Given the description of an element on the screen output the (x, y) to click on. 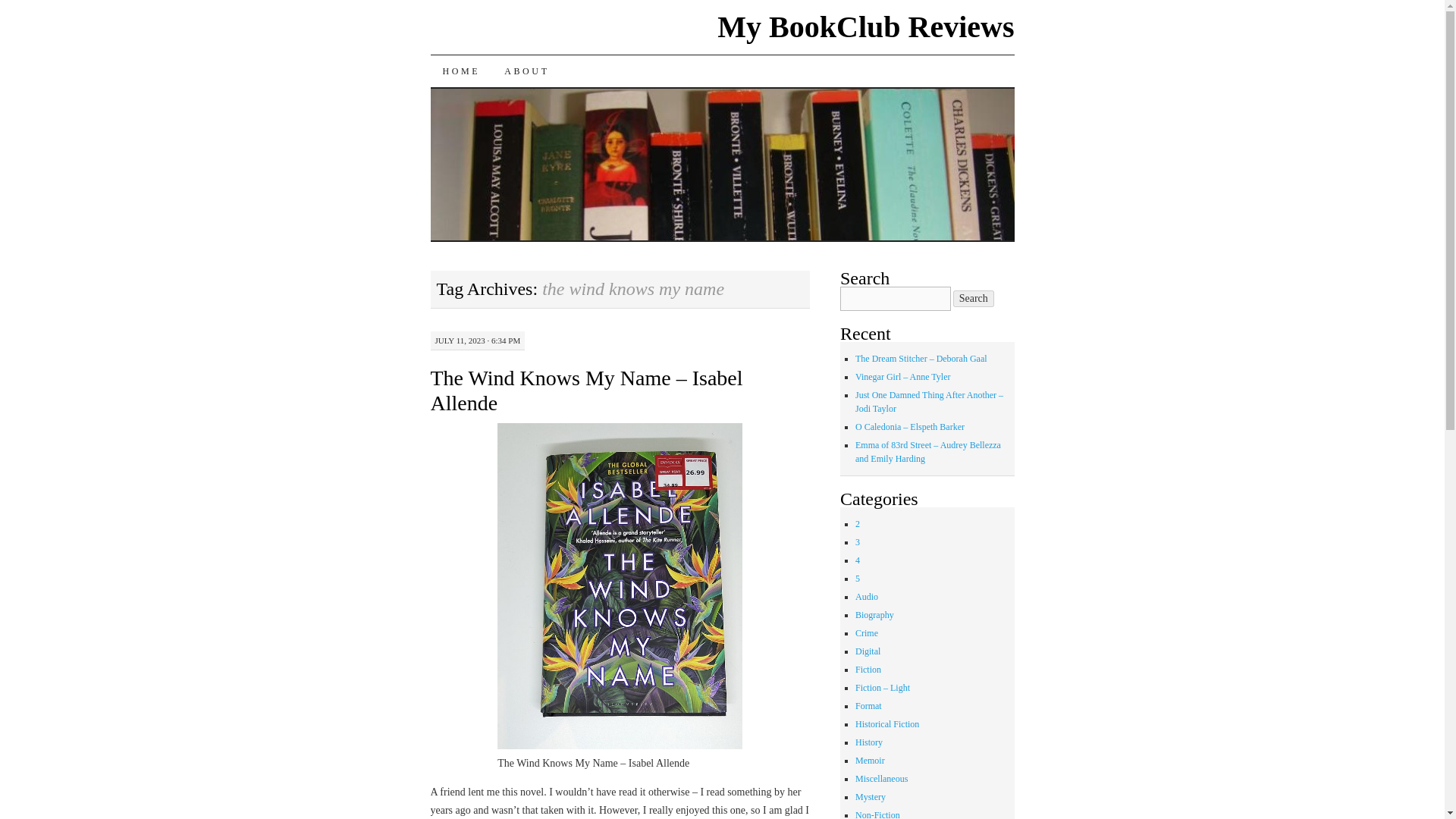
My BookClub Reviews (865, 26)
Digital (868, 651)
Mystery (870, 796)
Search (973, 298)
ABOUT (526, 70)
Non-Fiction (877, 814)
Format (869, 706)
History (869, 742)
HOME (461, 70)
Memoir (870, 760)
Fiction (868, 669)
Miscellaneous (881, 778)
Crime (866, 633)
Historical Fiction (887, 724)
My BookClub Reviews (865, 26)
